Given the description of an element on the screen output the (x, y) to click on. 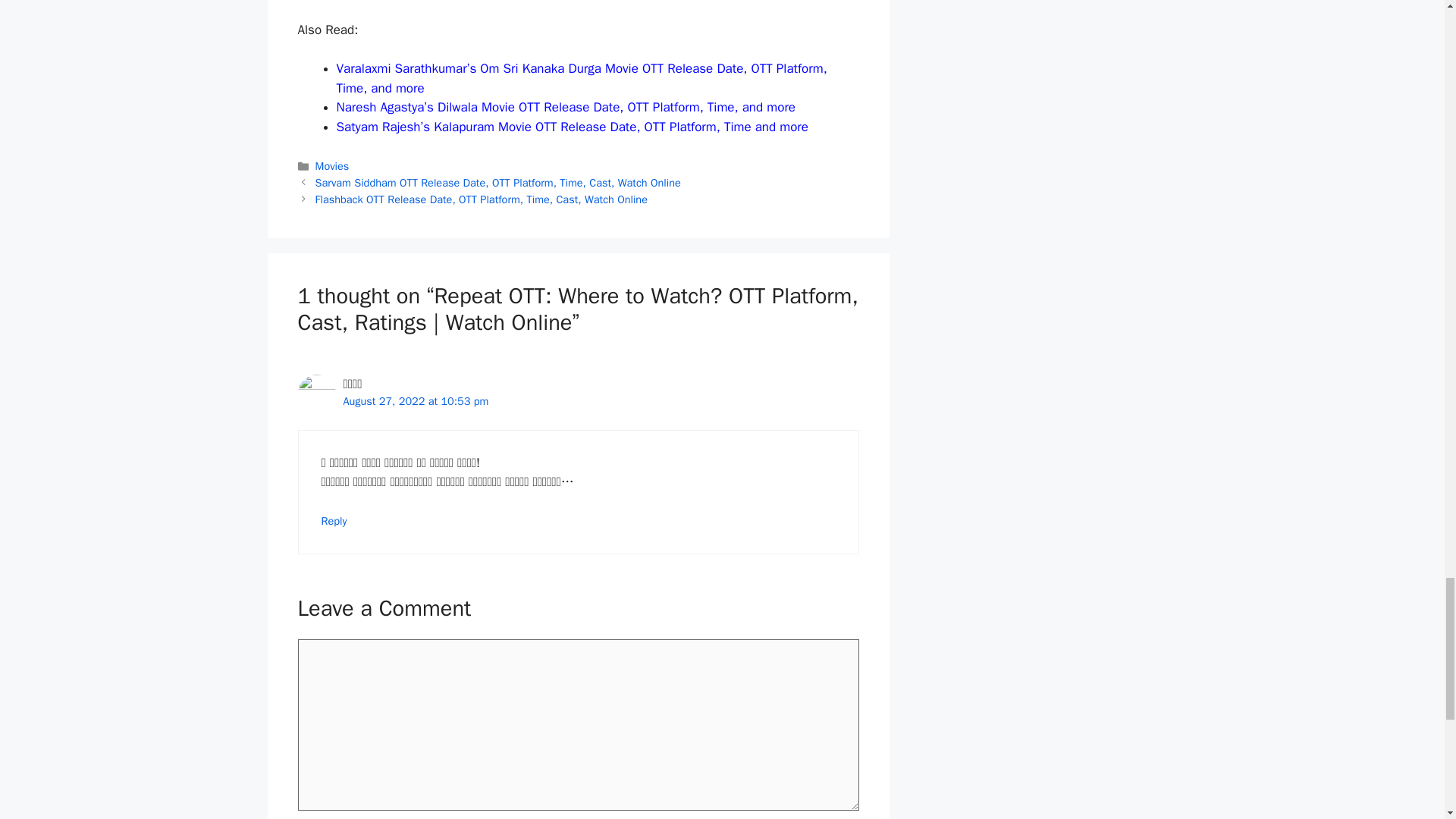
Movies (332, 165)
August 27, 2022 at 10:53 pm (414, 400)
Reply (334, 520)
